Given the description of an element on the screen output the (x, y) to click on. 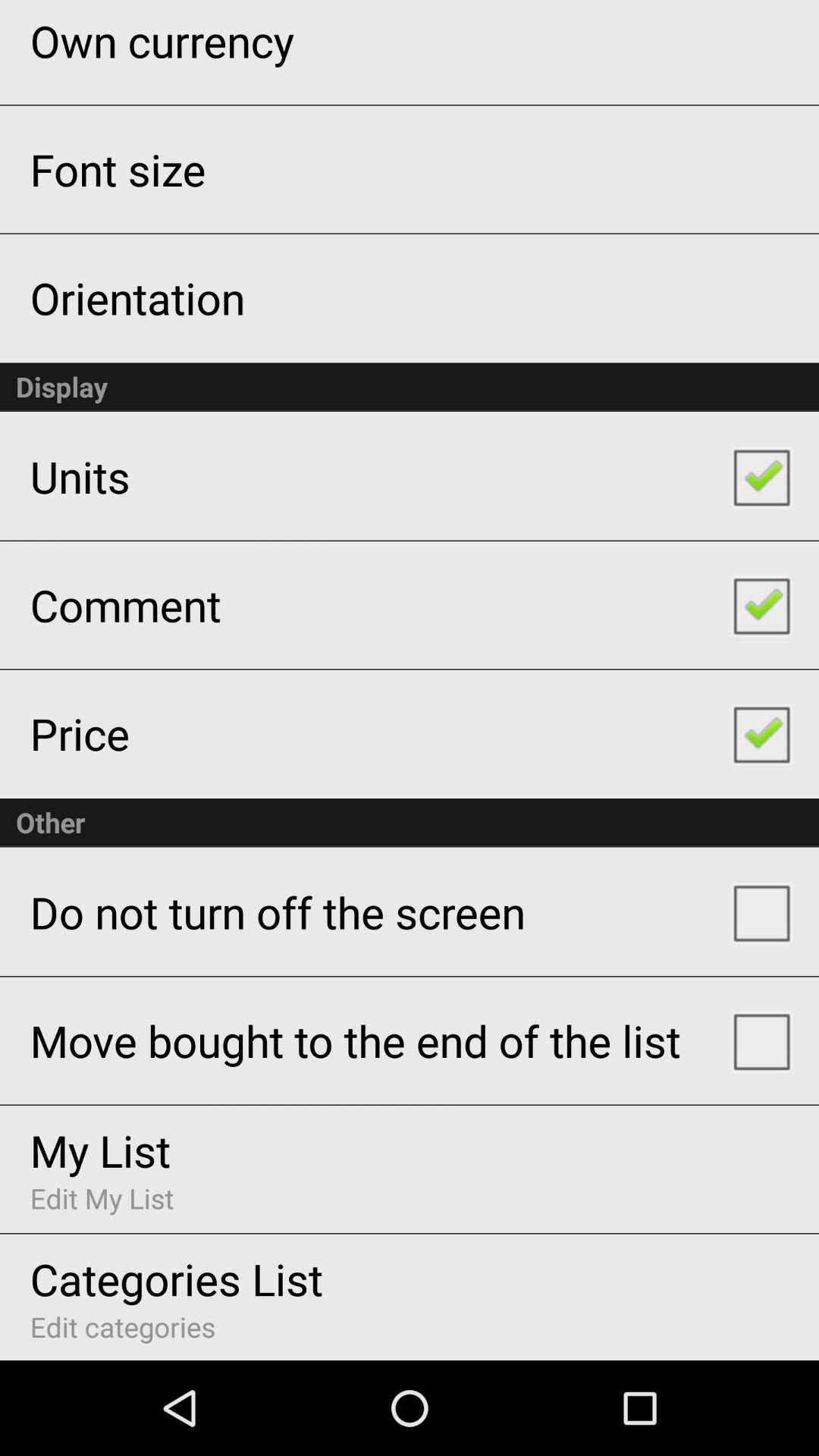
turn on the item below edit my list item (176, 1278)
